Given the description of an element on the screen output the (x, y) to click on. 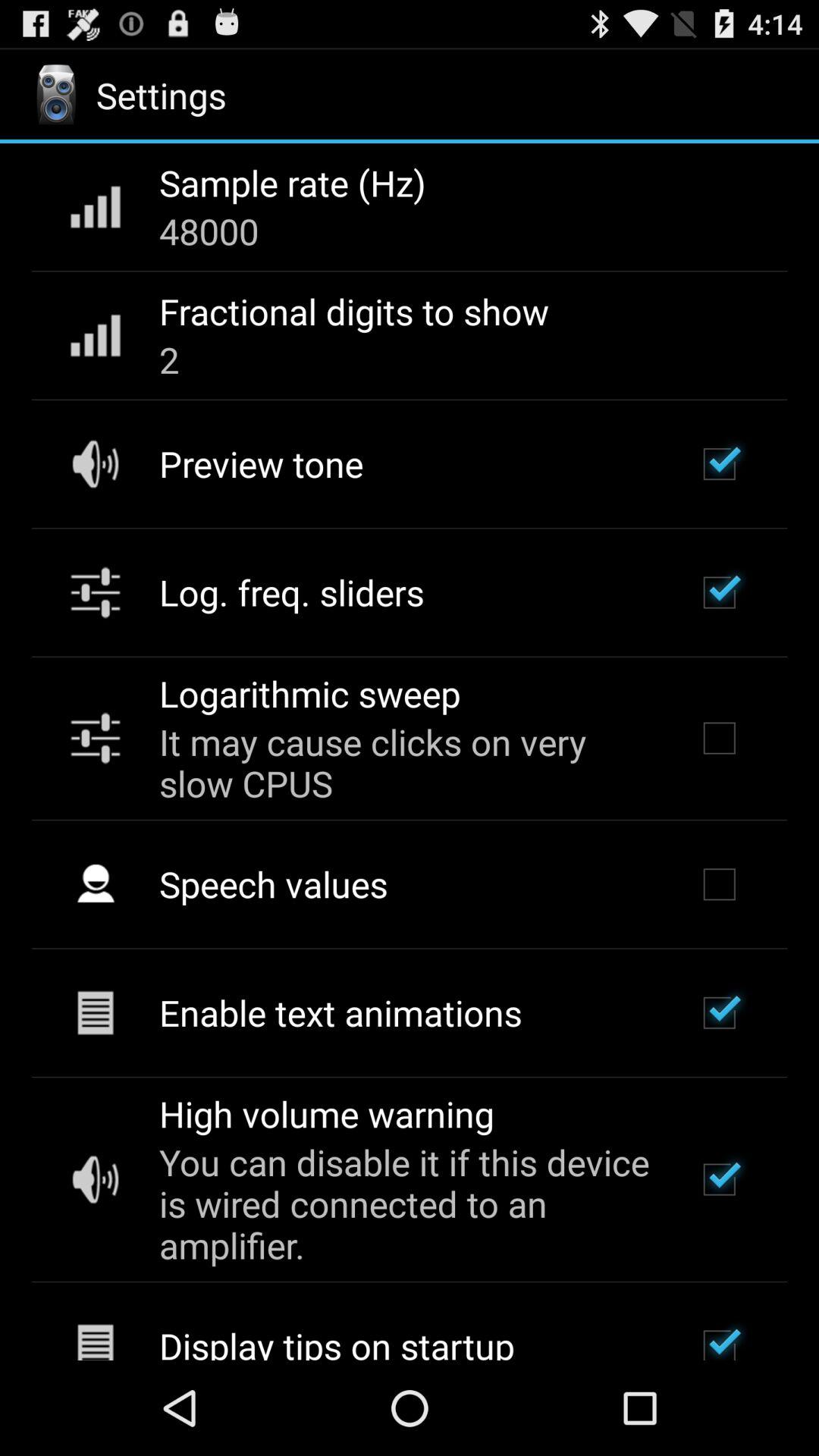
press item above you can disable icon (326, 1113)
